Given the description of an element on the screen output the (x, y) to click on. 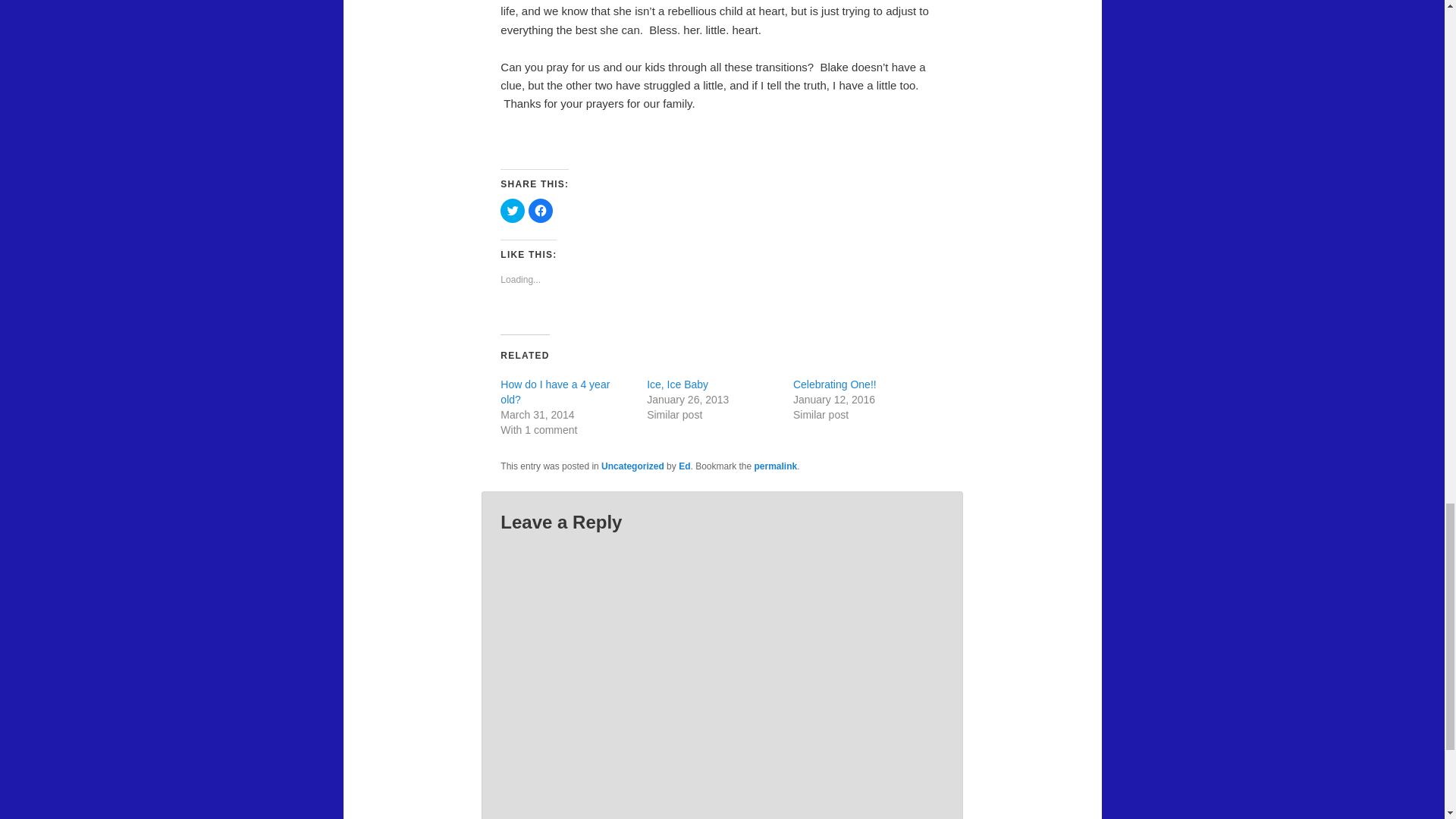
Celebrating One!! (834, 384)
How do I have a 4 year old? (555, 391)
Ice, Ice Baby (676, 384)
How do I have a 4 year old? (555, 391)
Ed (684, 466)
Celebrating One!! (834, 384)
Comment Form (721, 676)
Ice, Ice Baby (676, 384)
permalink (775, 466)
Uncategorized (632, 466)
